Given the description of an element on the screen output the (x, y) to click on. 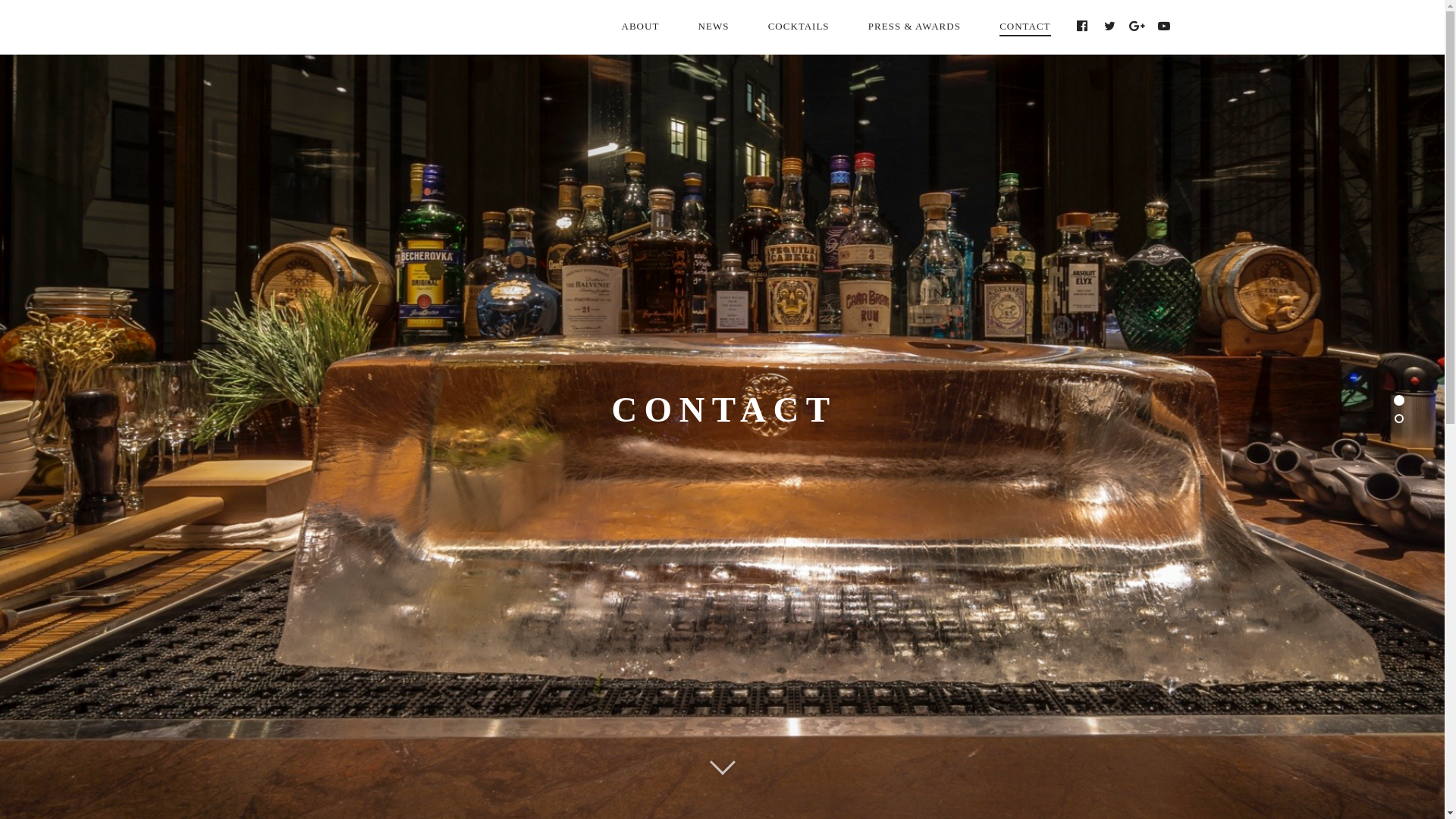
FACEBOOK Element type: text (1082, 26)
NEWS Element type: text (713, 26)
COCKTAILS Element type: text (798, 26)
YOUTUBE Element type: text (1164, 26)
TWITTER Element type: text (1109, 26)
CONTACT Element type: text (1024, 27)
PRESS & AWARDS Element type: text (914, 26)
ABOUT Element type: text (640, 26)
GOOGLE+ Element type: text (1137, 26)
